Given the description of an element on the screen output the (x, y) to click on. 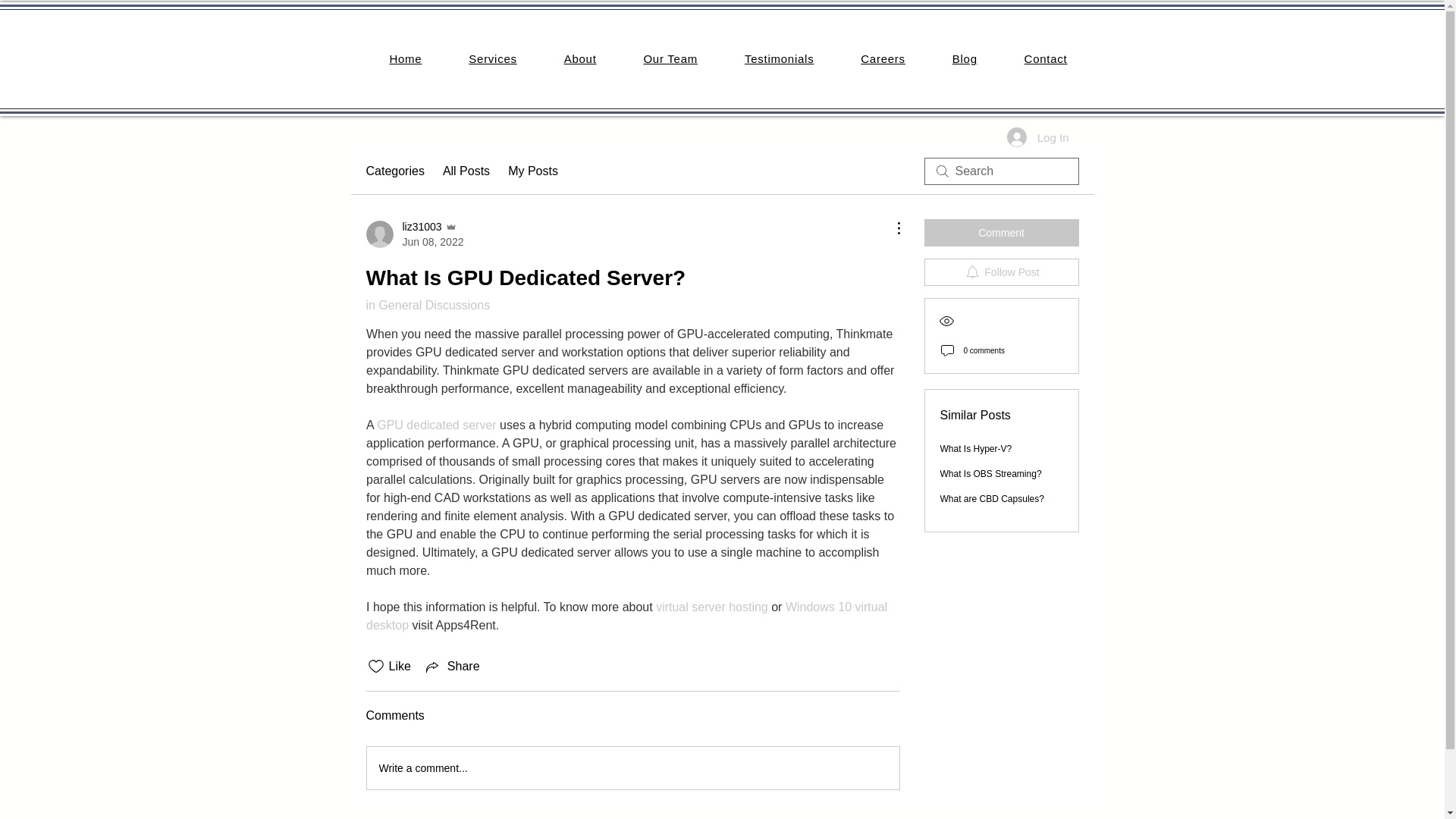
Log In (1037, 136)
Services (492, 58)
Blog (964, 58)
Write a comment... (632, 767)
My Posts (532, 171)
Contact (1045, 58)
GPU dedicated server (436, 424)
Follow Post (1000, 271)
What are CBD Capsules? (991, 498)
